Given the description of an element on the screen output the (x, y) to click on. 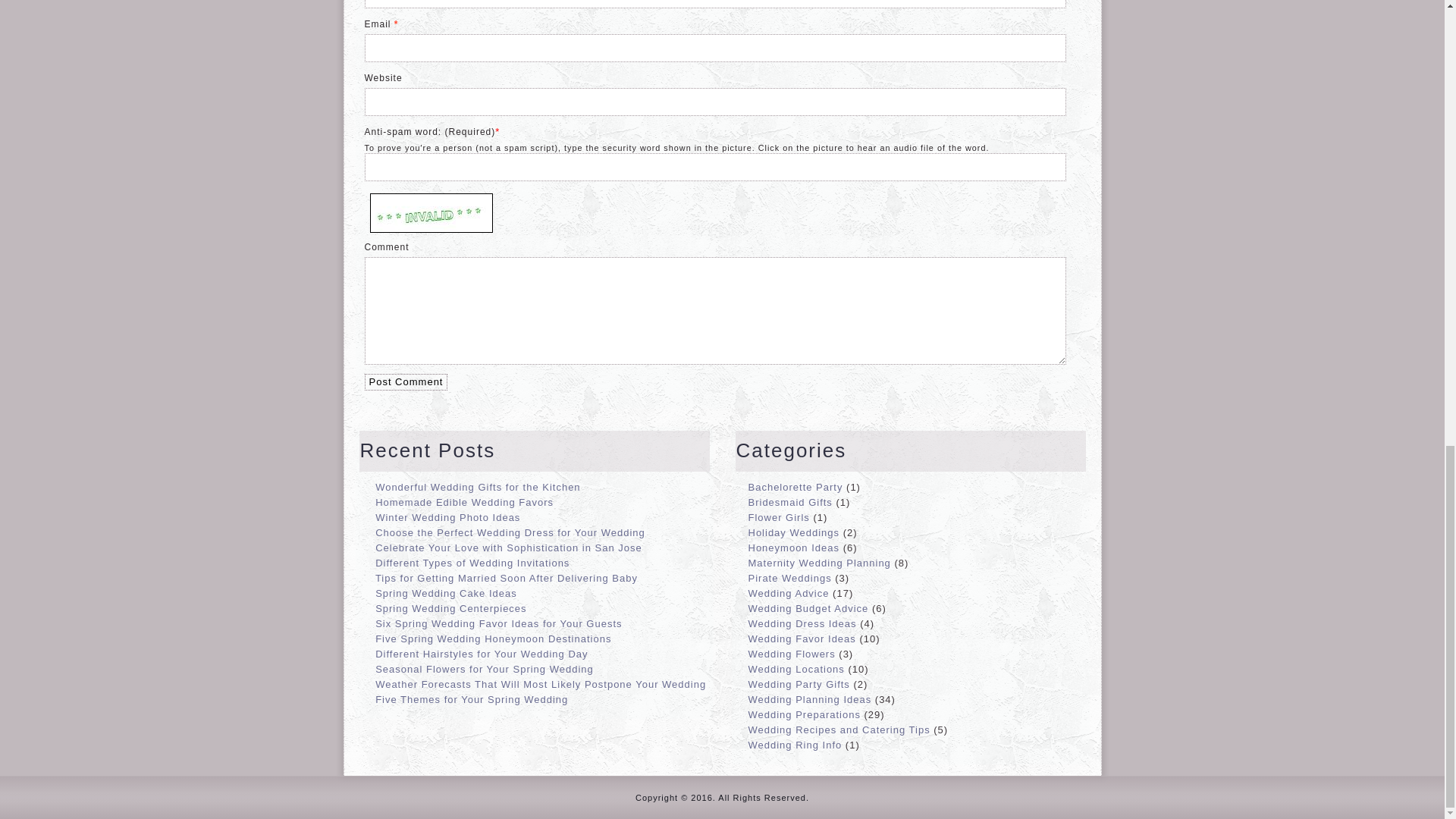
Post Comment (405, 381)
Post Comment (405, 381)
Winter Wedding Photo Ideas (447, 517)
Honeymoon Ideas (794, 547)
Holiday Weddings (794, 532)
Celebrate Your Love with Sophistication in San Jose (508, 547)
Different Types of Wedding Invitations (472, 562)
Spring Wedding Cake Ideas (445, 593)
Five Spring Wedding Honeymoon Destinations (493, 638)
Maternity Wedding Planning (818, 562)
